Given the description of an element on the screen output the (x, y) to click on. 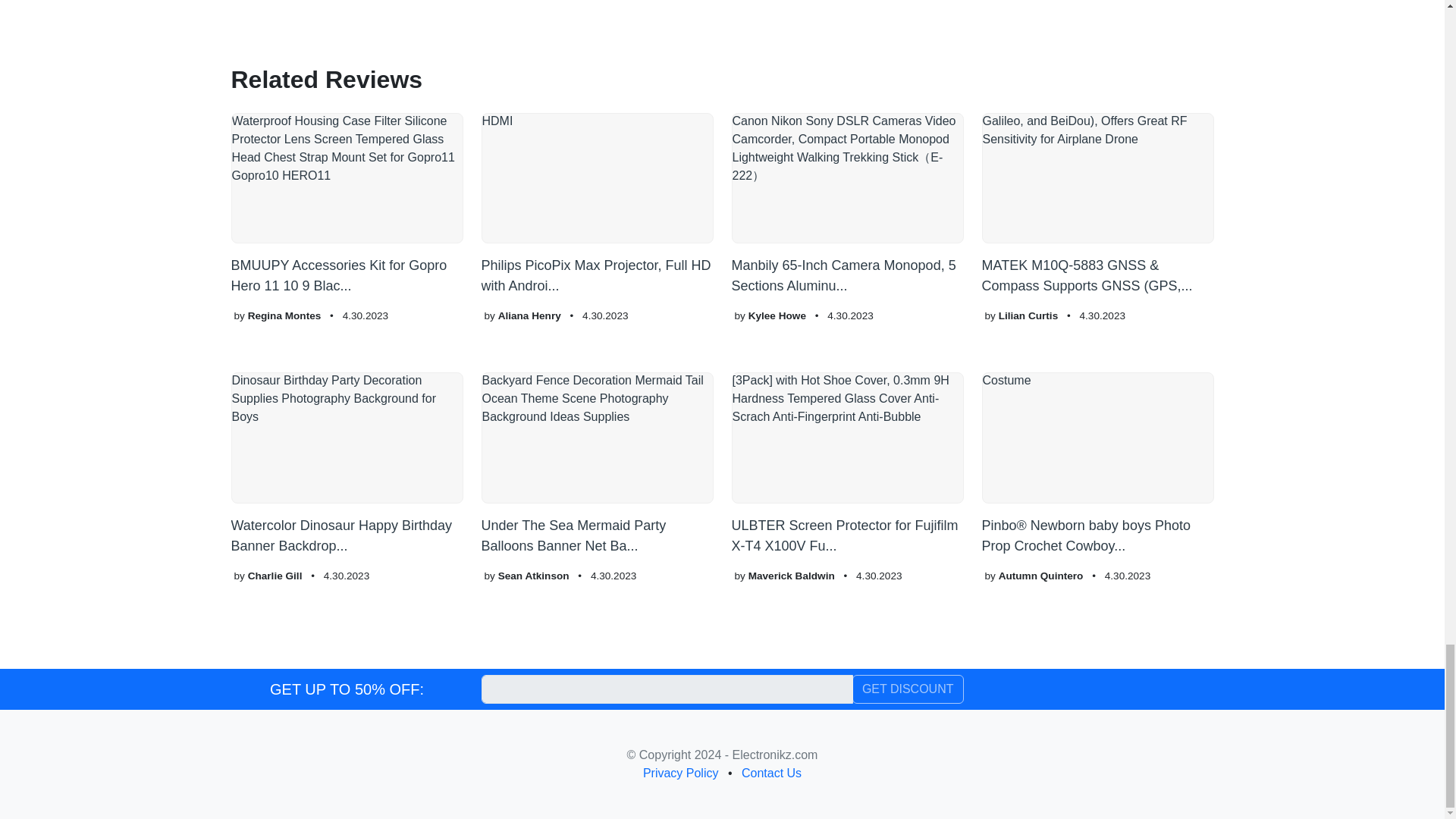
ULBTER Screen Protector for Fujifilm X-T4 X100V Fu... (846, 464)
Watercolor Dinosaur Happy Birthday Banner Backdrop... (346, 464)
BMUUPY Accessories Kit for Gopro Hero 11 10 9 Blac... (346, 204)
Manbily 65-Inch Camera Monopod, 5 Sections Aluminu... (846, 204)
Under The Sea Mermaid Party Balloons Banner Net Ba... (596, 464)
Philips PicoPix Max Projector, Full HD with Androi... (596, 204)
